Given the description of an element on the screen output the (x, y) to click on. 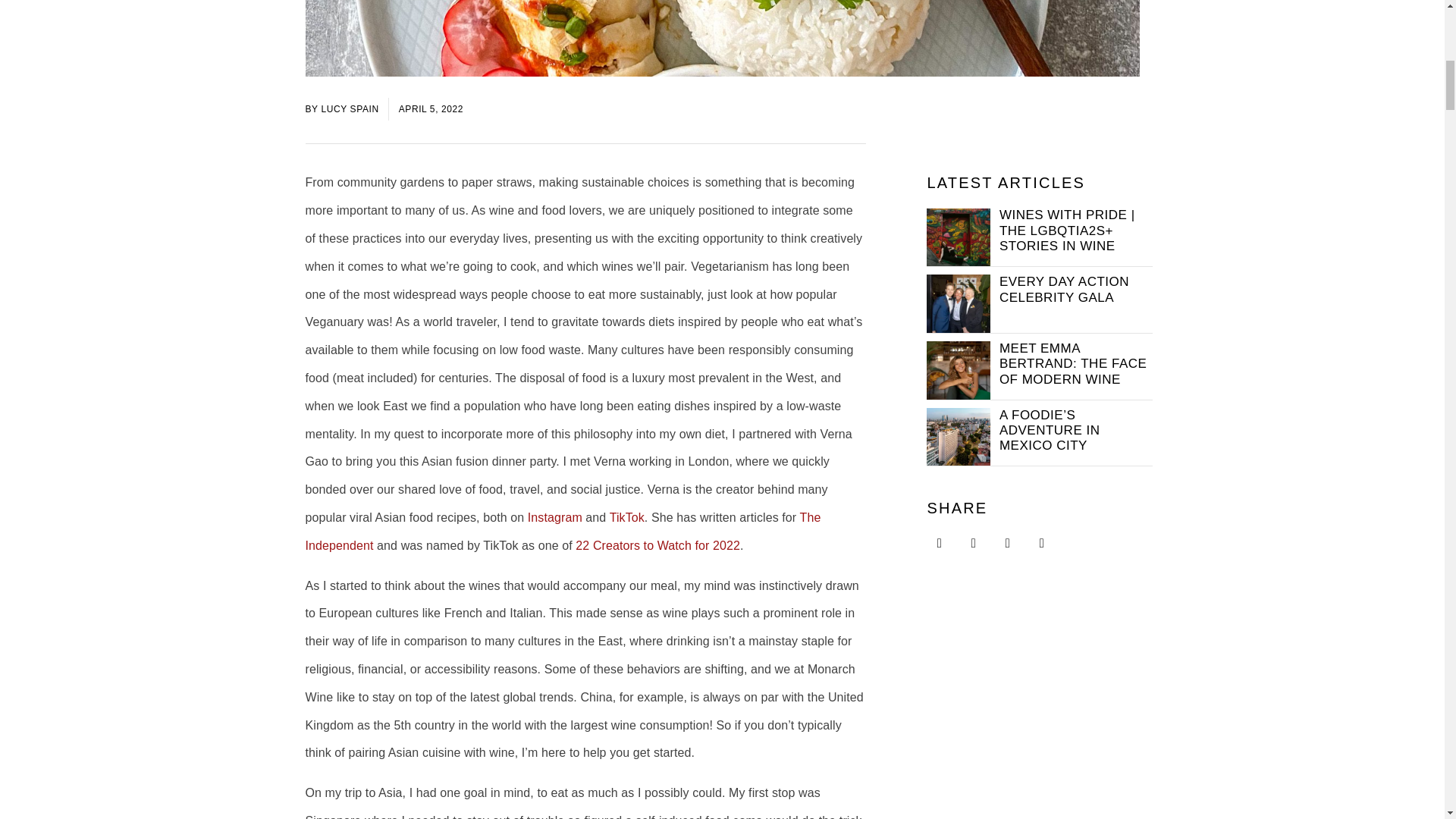
Instagram (554, 517)
The Independent (562, 531)
BY LUCY SPAIN (341, 109)
22 Creators to Watch for 2022 (657, 545)
TikTok (627, 517)
